Given the description of an element on the screen output the (x, y) to click on. 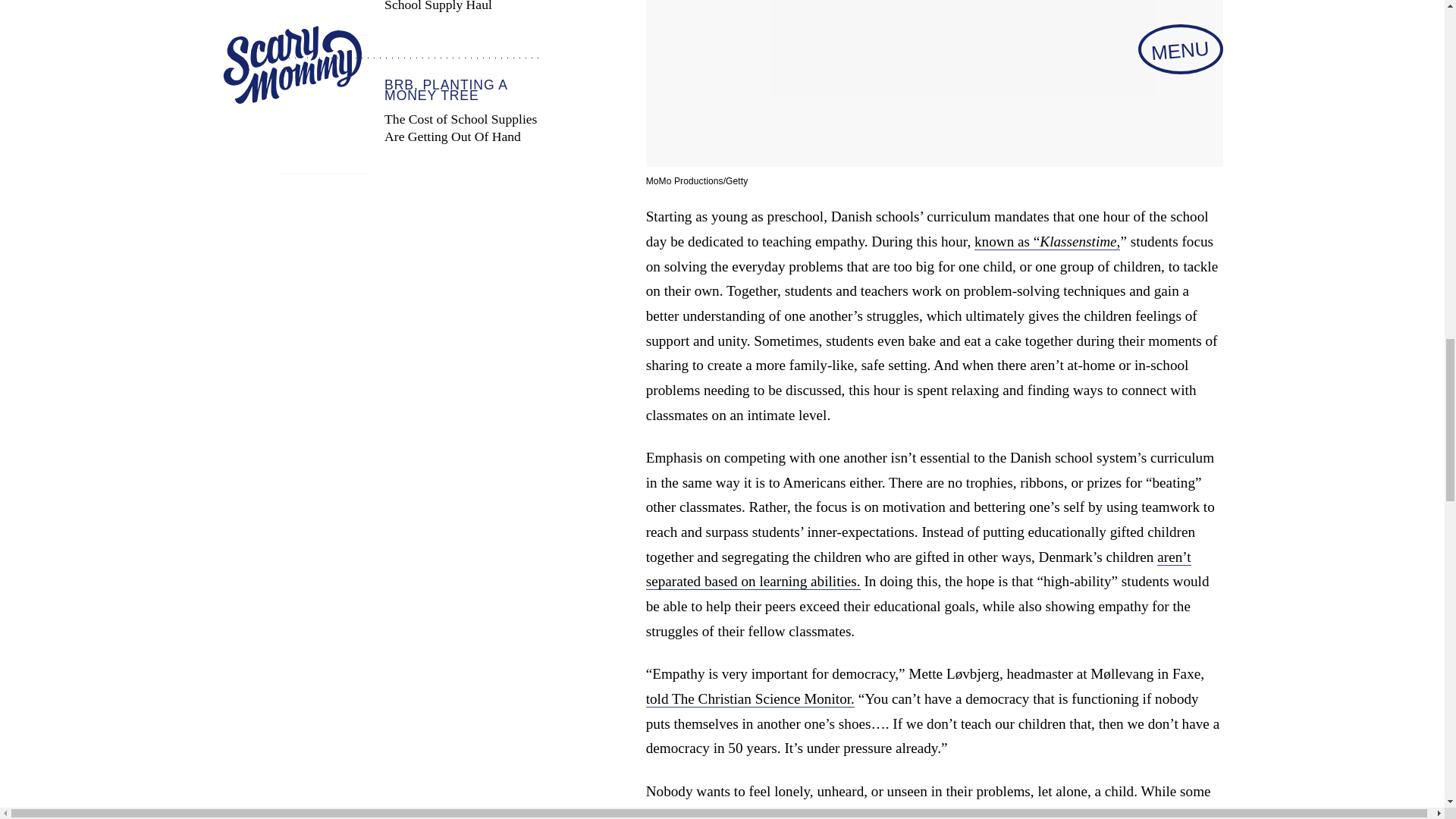
told The Christian Science Monitor. (750, 699)
